Given the description of an element on the screen output the (x, y) to click on. 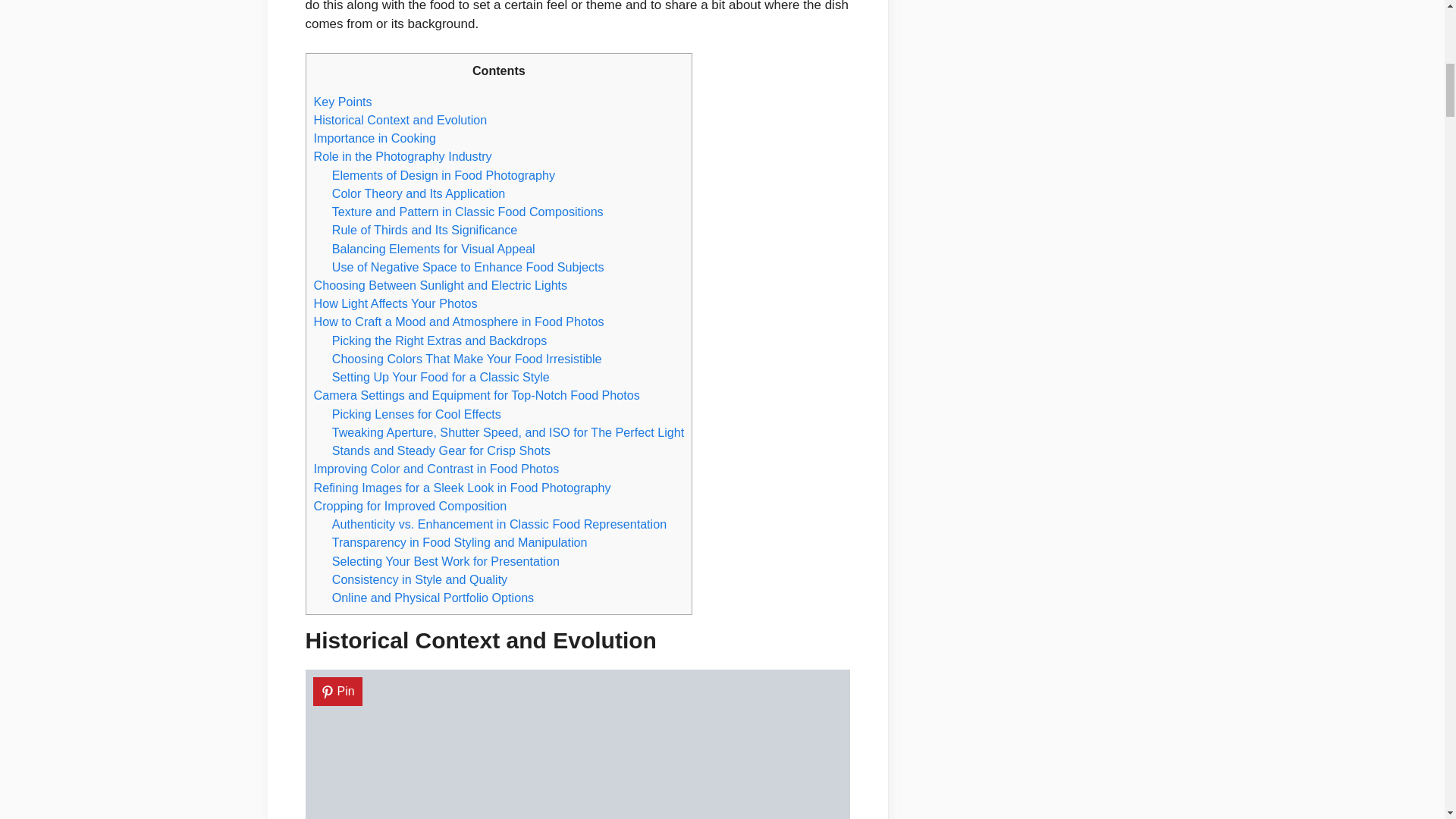
Stands and Steady Gear for Crisp Shots (440, 450)
Elements of Design in Food Photography (442, 174)
Choosing Colors That Make Your Food Irresistible (466, 358)
Importance in Cooking (375, 137)
How to Craft a Mood and Atmosphere in Food Photos (459, 321)
Color Theory and Its Application (418, 192)
Authenticity vs. Enhancement in Classic Food Representation (498, 523)
Picking the Right Extras and Backdrops (439, 340)
Selecting Your Best Work for Presentation (445, 561)
Historical Context and Evolution (400, 119)
